Given the description of an element on the screen output the (x, y) to click on. 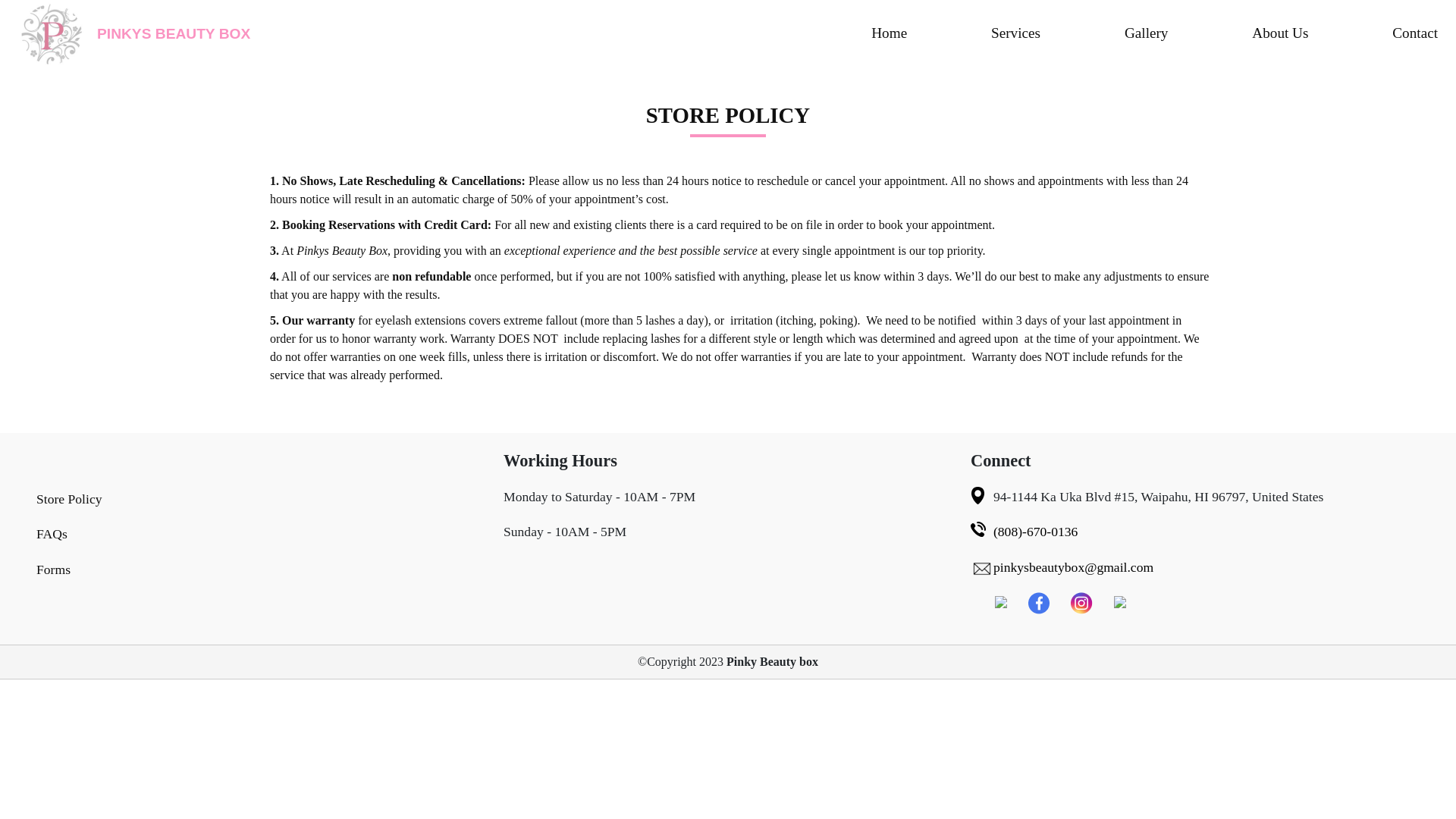
PINKYS BEAUTY BOX (368, 33)
Store Policy (68, 498)
Forms (52, 569)
Gallery (1146, 32)
About Us (1279, 32)
FAQs (51, 533)
Home (888, 32)
Contact (1414, 32)
Services (1016, 32)
